Given the description of an element on the screen output the (x, y) to click on. 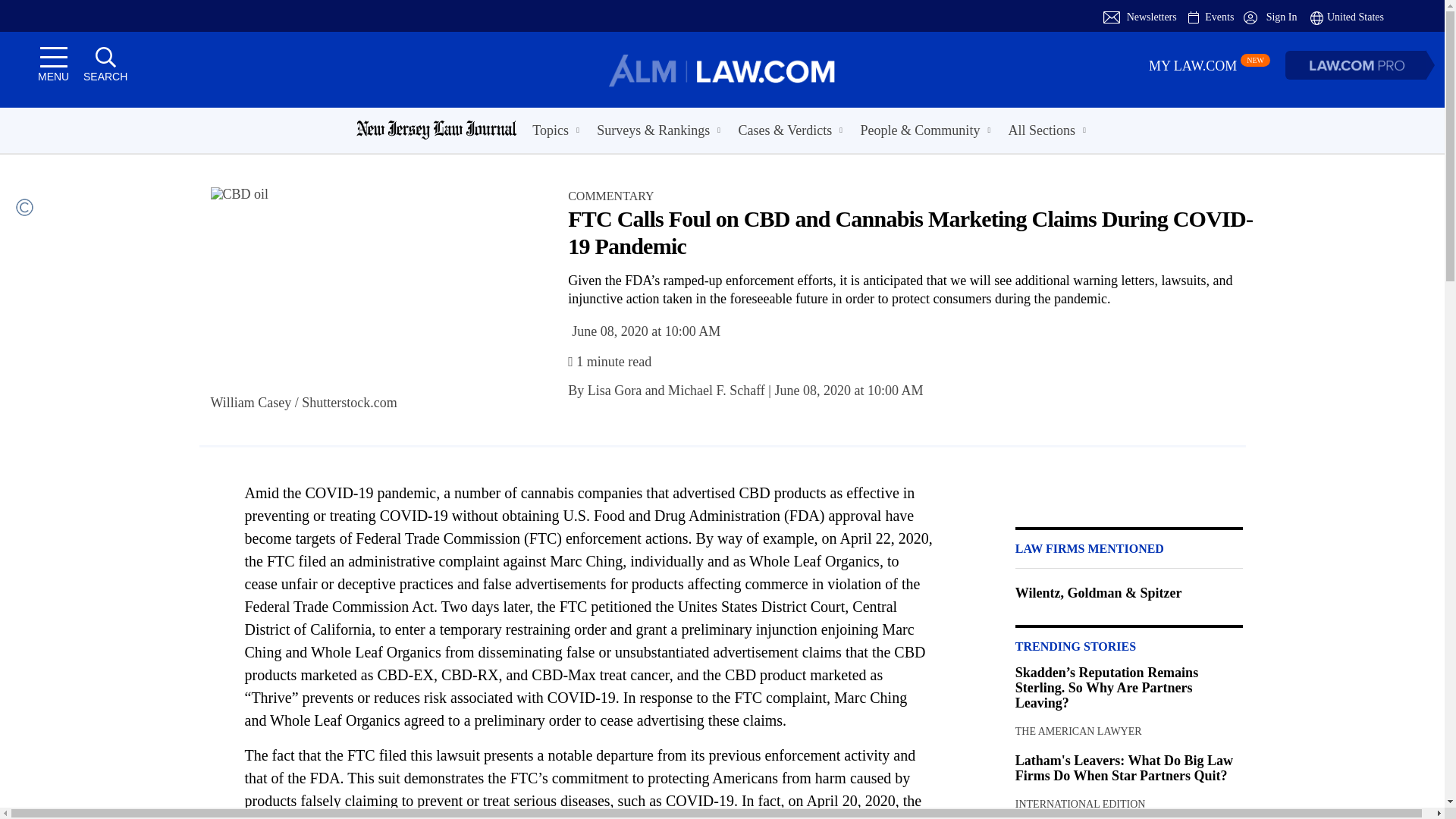
Newsletters (1151, 16)
Sign In (1270, 16)
Events (1219, 16)
United States (1347, 16)
